Given the description of an element on the screen output the (x, y) to click on. 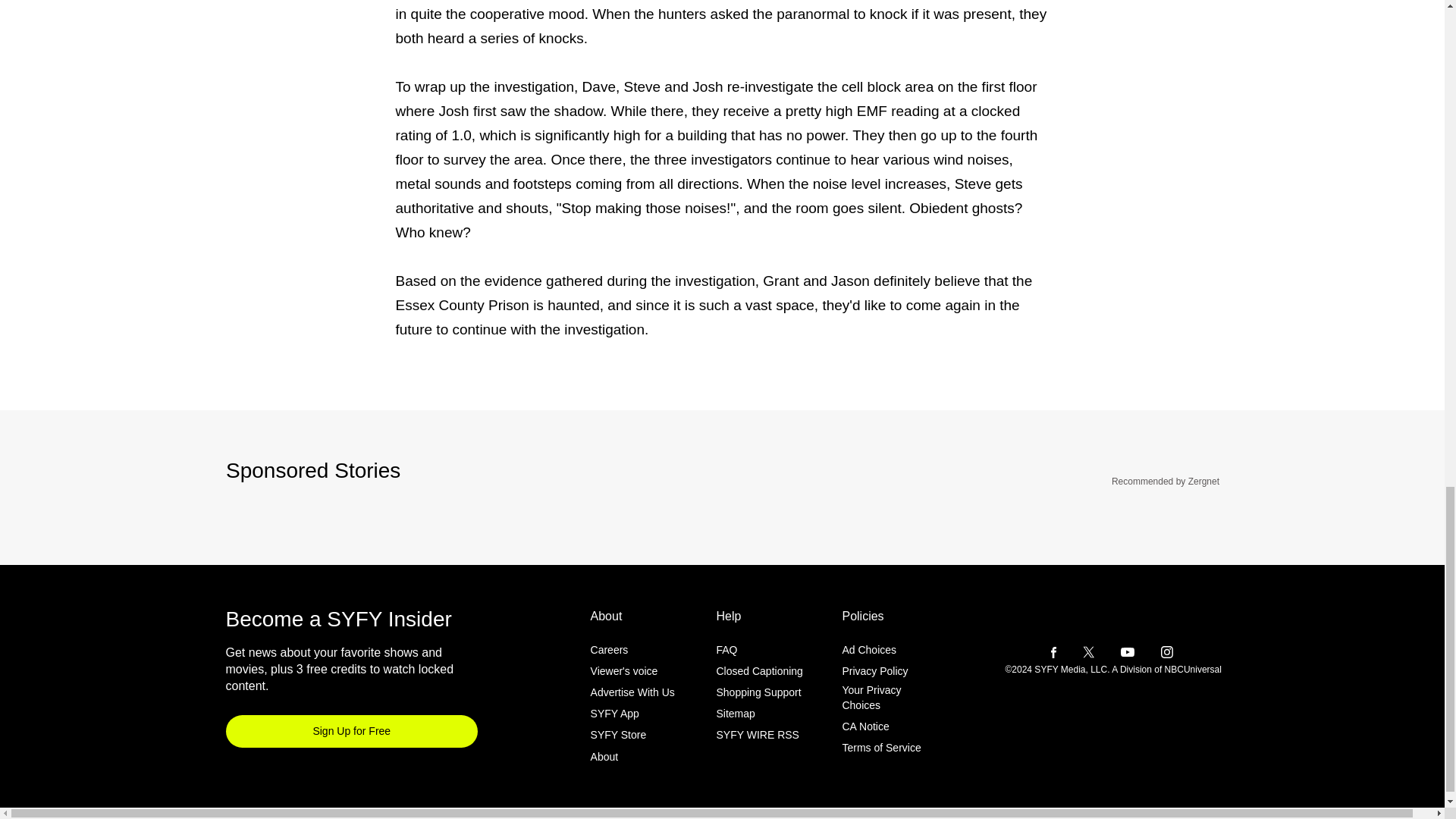
Careers (609, 649)
SYFY Store (618, 734)
Terms of Service (880, 747)
Closed Captioning (759, 671)
SYFY WIRE RSS (756, 734)
SYFY App (615, 713)
CA Notice (864, 726)
Viewer's voice (624, 671)
About (604, 756)
Your Privacy Choices (890, 697)
FAQ (726, 649)
Advertise With Us (633, 692)
Sitemap (735, 713)
Privacy Policy (874, 671)
Sign Up for Free (352, 730)
